Given the description of an element on the screen output the (x, y) to click on. 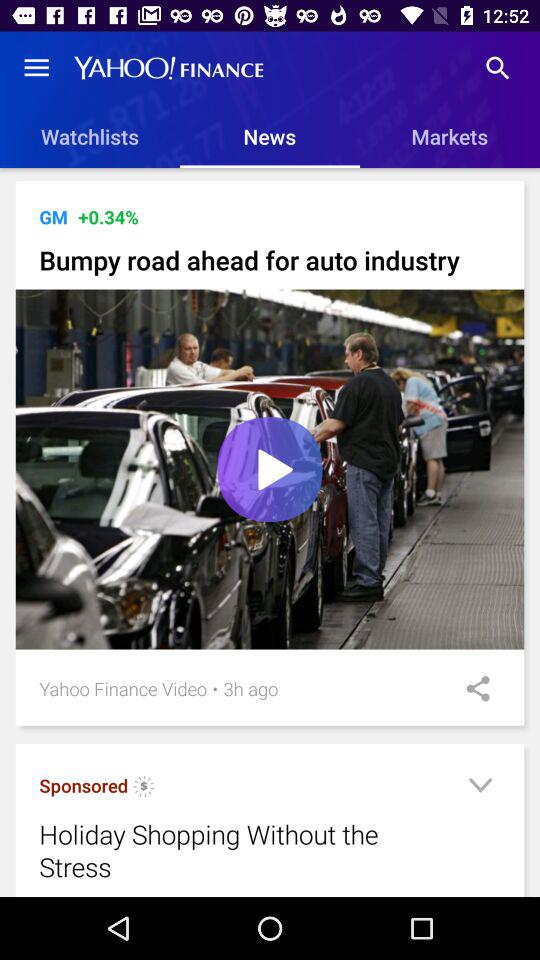
choose the item above the holiday shopping without icon (215, 688)
